Given the description of an element on the screen output the (x, y) to click on. 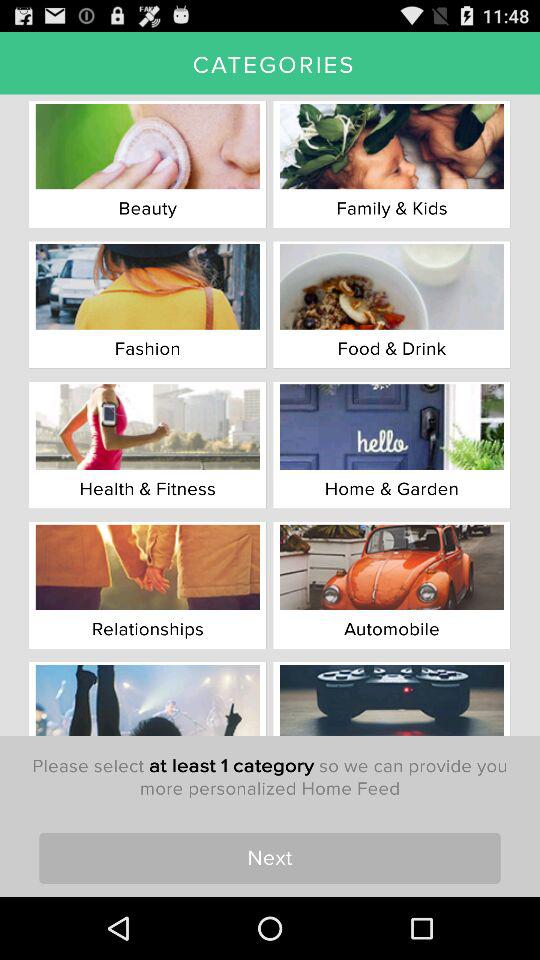
flip to next icon (269, 857)
